Given the description of an element on the screen output the (x, y) to click on. 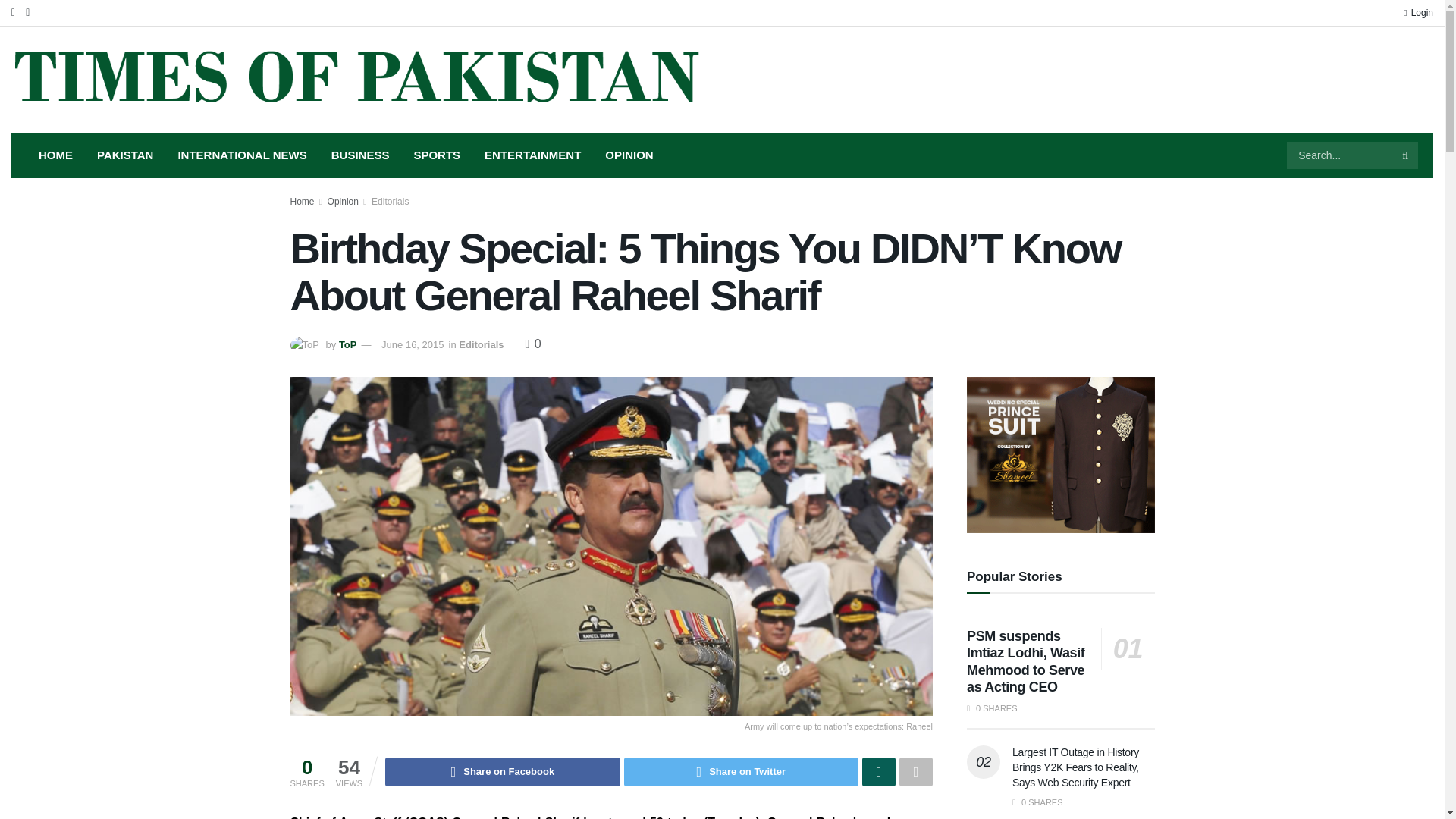
ENTERTAINMENT (531, 155)
Home (301, 201)
June 16, 2015 (412, 344)
Editorials (390, 201)
Login (1417, 12)
0 (533, 343)
BUSINESS (359, 155)
ToP (347, 344)
INTERNATIONAL NEWS (241, 155)
Opinion (342, 201)
SPORTS (436, 155)
PAKISTAN (124, 155)
OPINION (628, 155)
Editorials (480, 344)
HOME (55, 155)
